Given the description of an element on the screen output the (x, y) to click on. 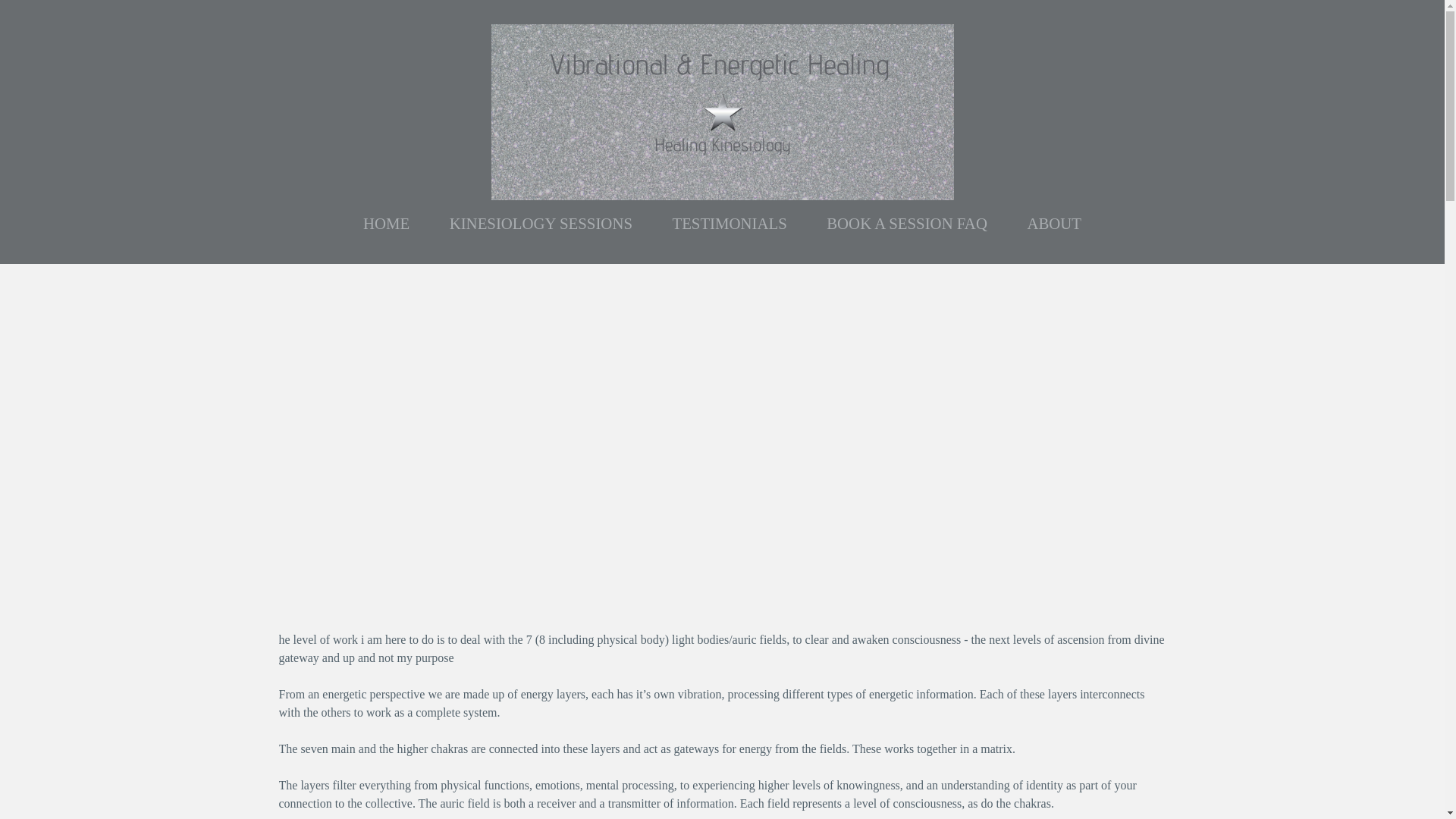
BOOK A SESSION FAQ Element type: text (906, 223)
KINESIOLOGY SESSIONS Element type: text (540, 223)
TESTIMONIALS Element type: text (728, 223)
HOME Element type: text (386, 223)
ABOUT Element type: text (1053, 223)
